Given the description of an element on the screen output the (x, y) to click on. 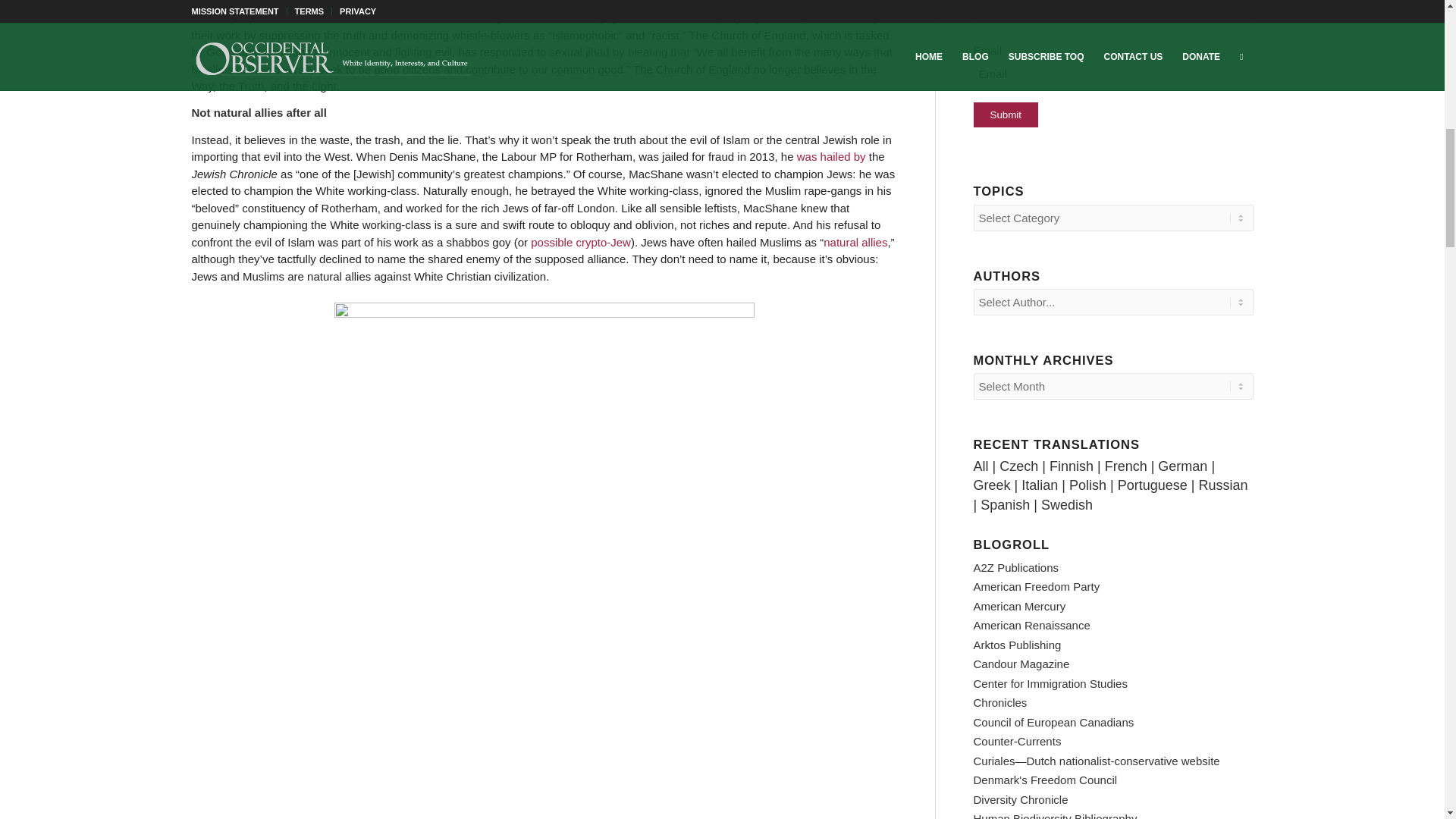
Submit (1006, 114)
by bleating that (651, 51)
was hailed by (831, 155)
natural allies (855, 241)
numerous British towns and cities (752, 3)
possible crypto-Jew (580, 241)
